Given the description of an element on the screen output the (x, y) to click on. 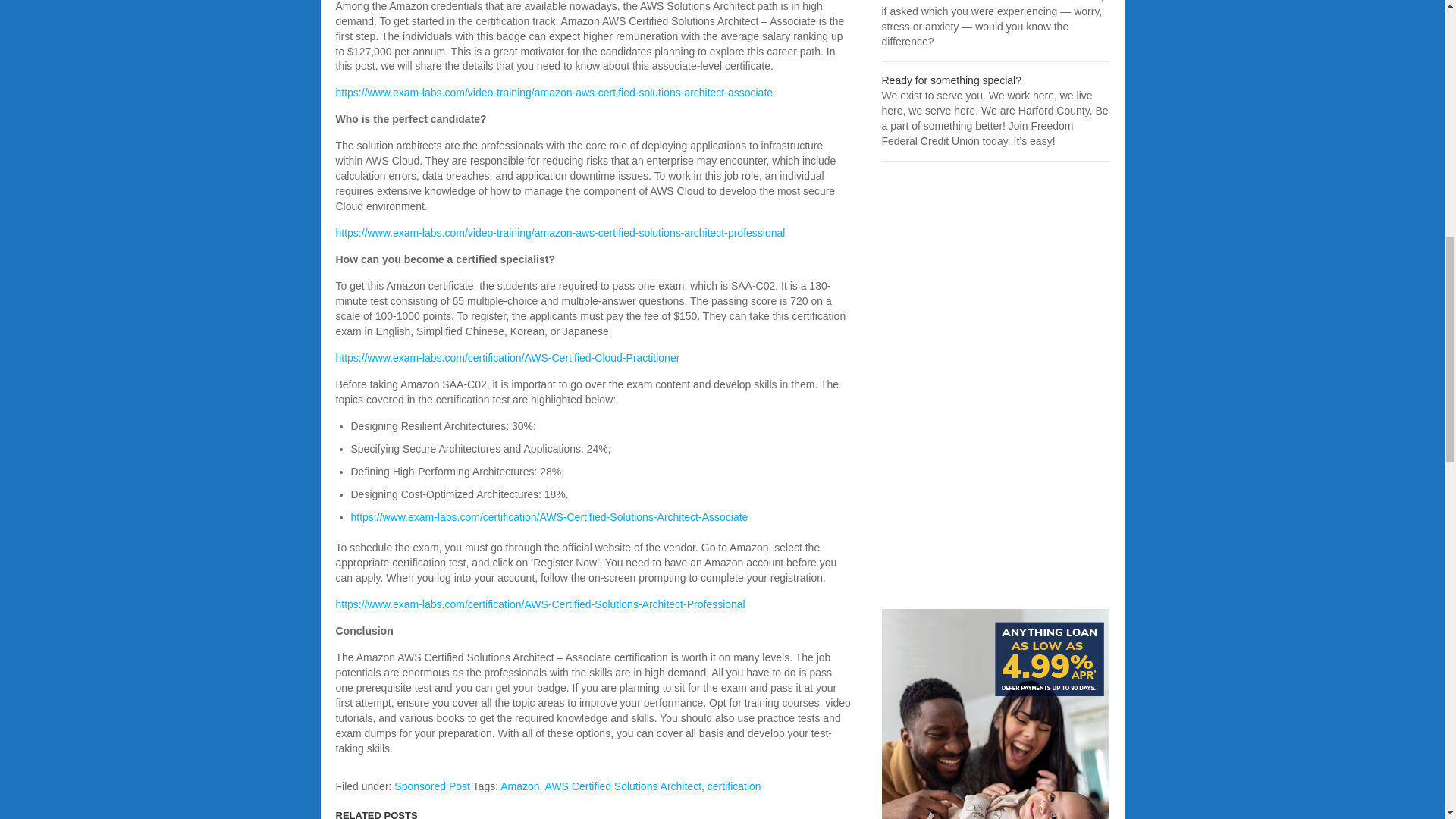
Sponsored Post (432, 786)
Freedom Federal Credit Union (950, 80)
